Given the description of an element on the screen output the (x, y) to click on. 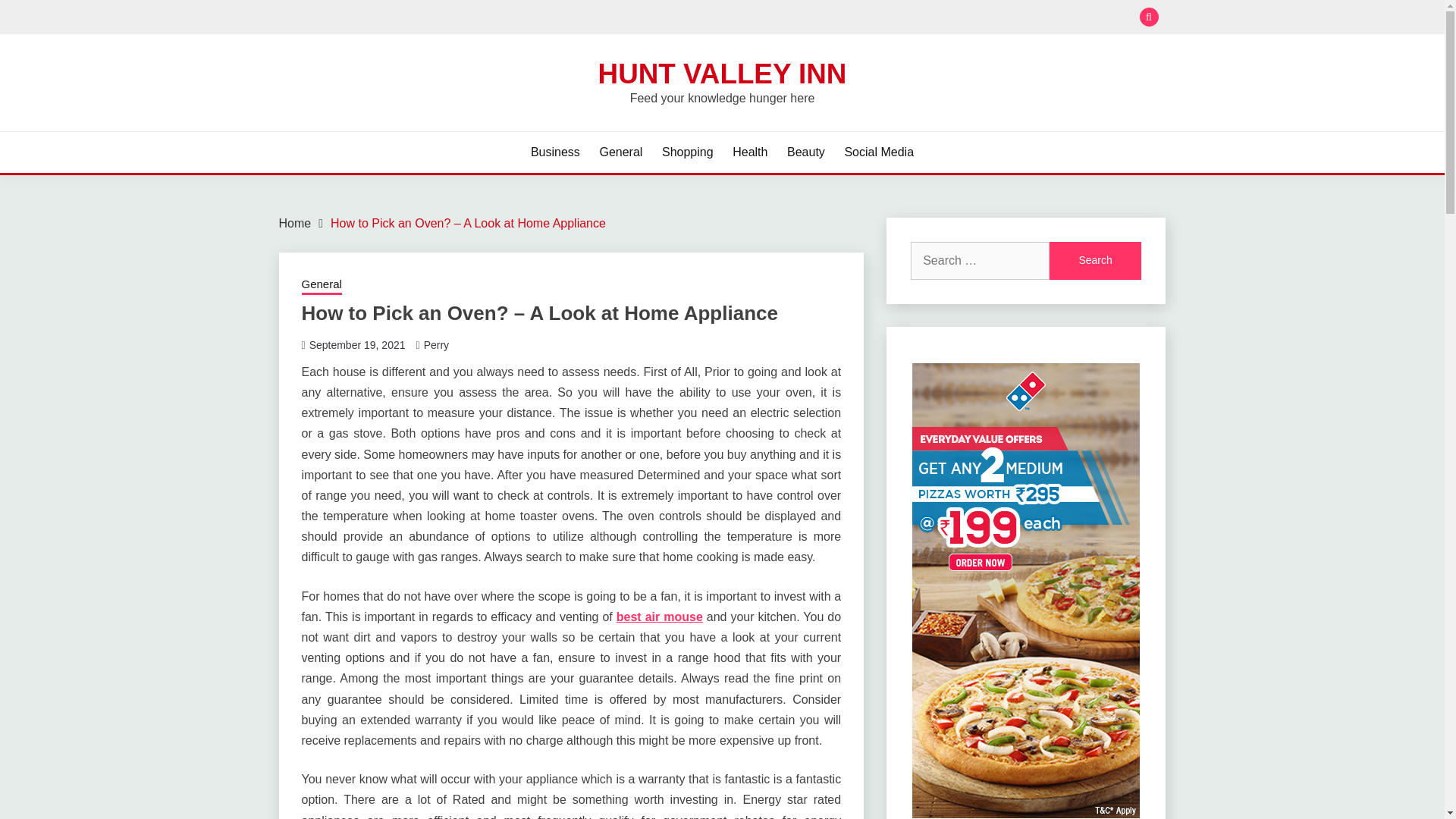
Health (749, 152)
Search (1095, 260)
General (321, 285)
Shopping (687, 152)
Home (295, 223)
Search (832, 18)
General (620, 152)
Beauty (806, 152)
HUNT VALLEY INN (722, 73)
September 19, 2021 (357, 345)
